Given the description of an element on the screen output the (x, y) to click on. 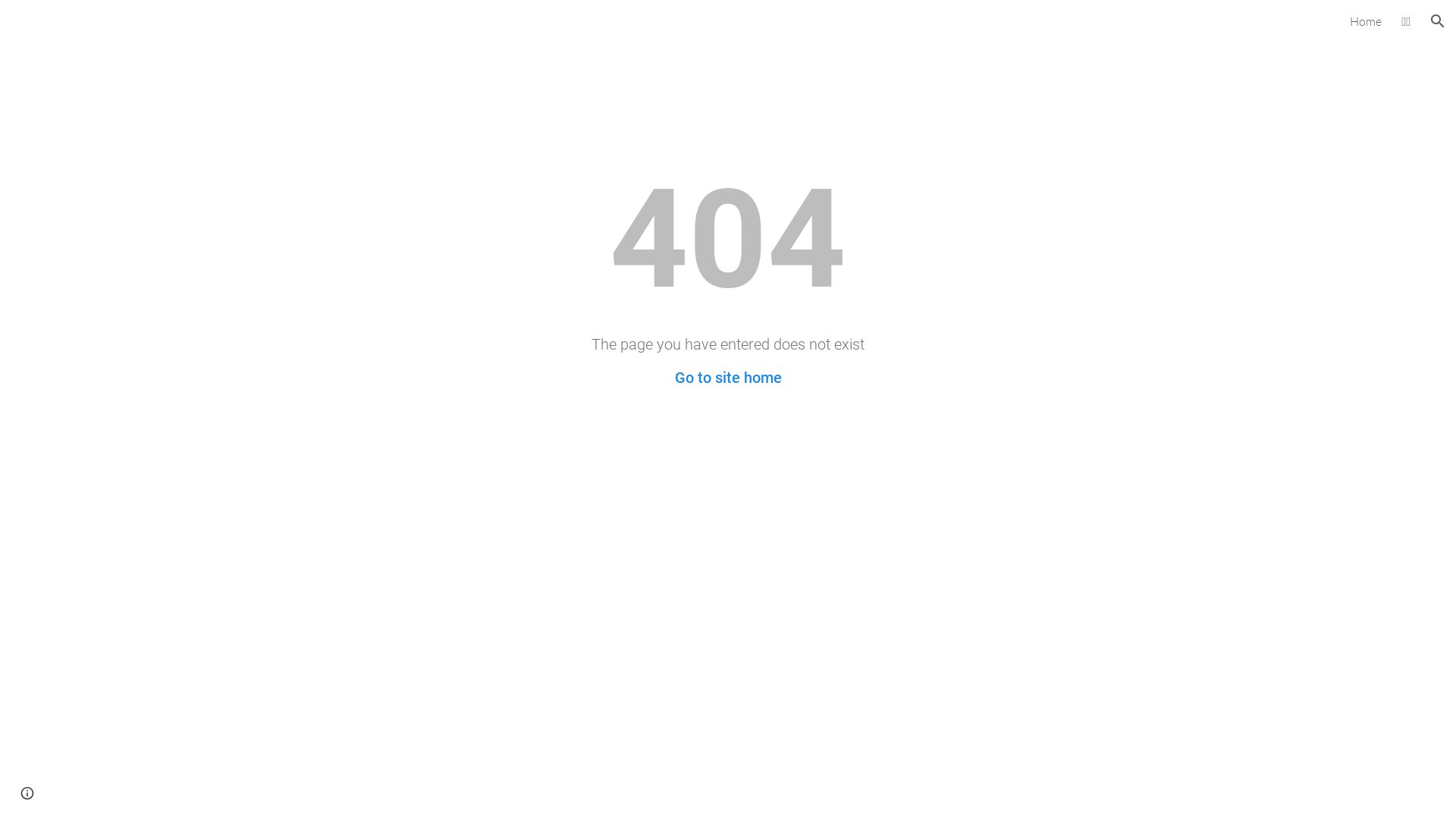
Go to site home Element type: text (727, 377)
Home Element type: text (1365, 20)
